Given the description of an element on the screen output the (x, y) to click on. 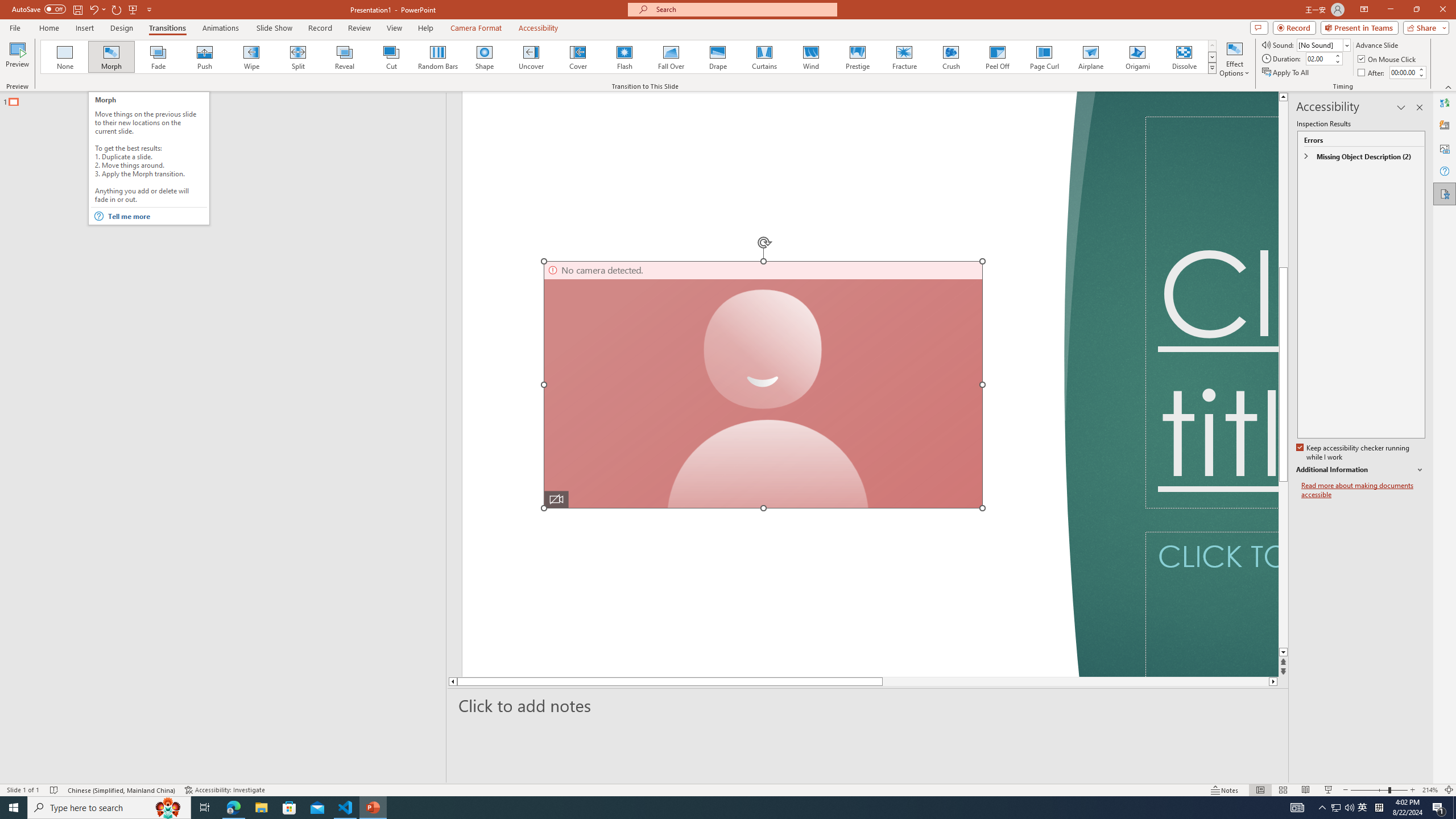
Uncover (531, 56)
Duration (1319, 58)
Fracture (903, 56)
Drape (717, 56)
Origami (1136, 56)
Camera 7, No camera detected. (762, 384)
